Given the description of an element on the screen output the (x, y) to click on. 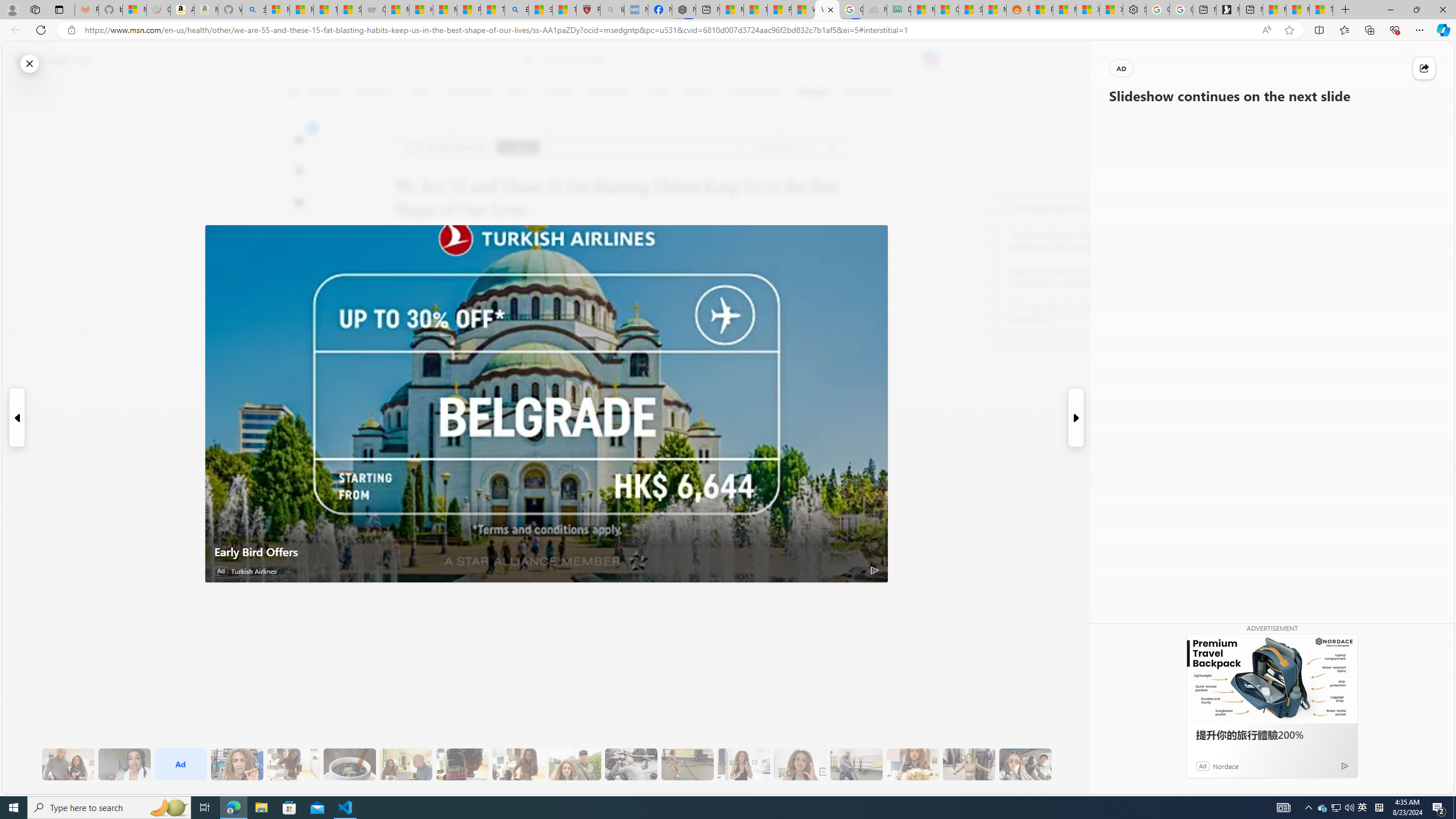
14 They Have Salmon and Veggies for Dinner (912, 764)
Next Slide (1076, 417)
